Given the description of an element on the screen output the (x, y) to click on. 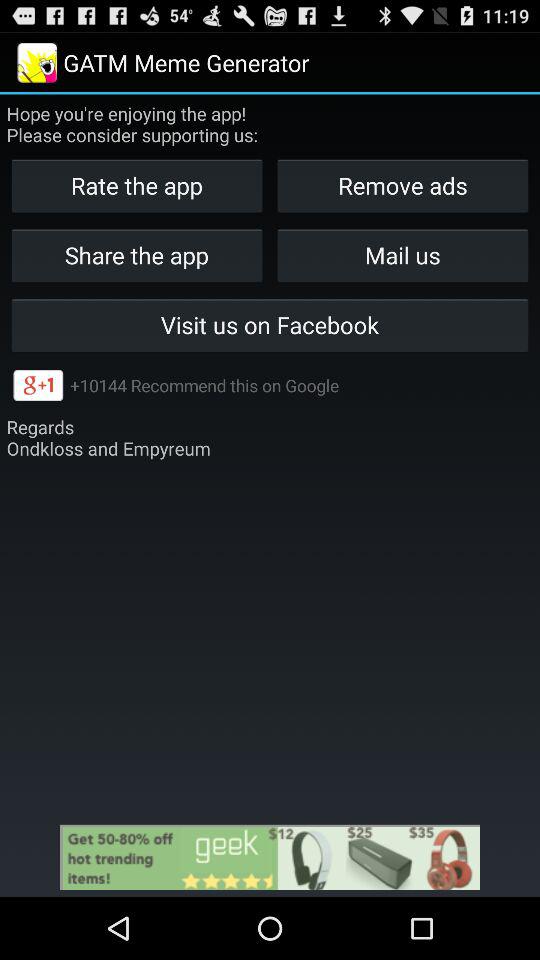
press the item above the share the app icon (402, 185)
